Given the description of an element on the screen output the (x, y) to click on. 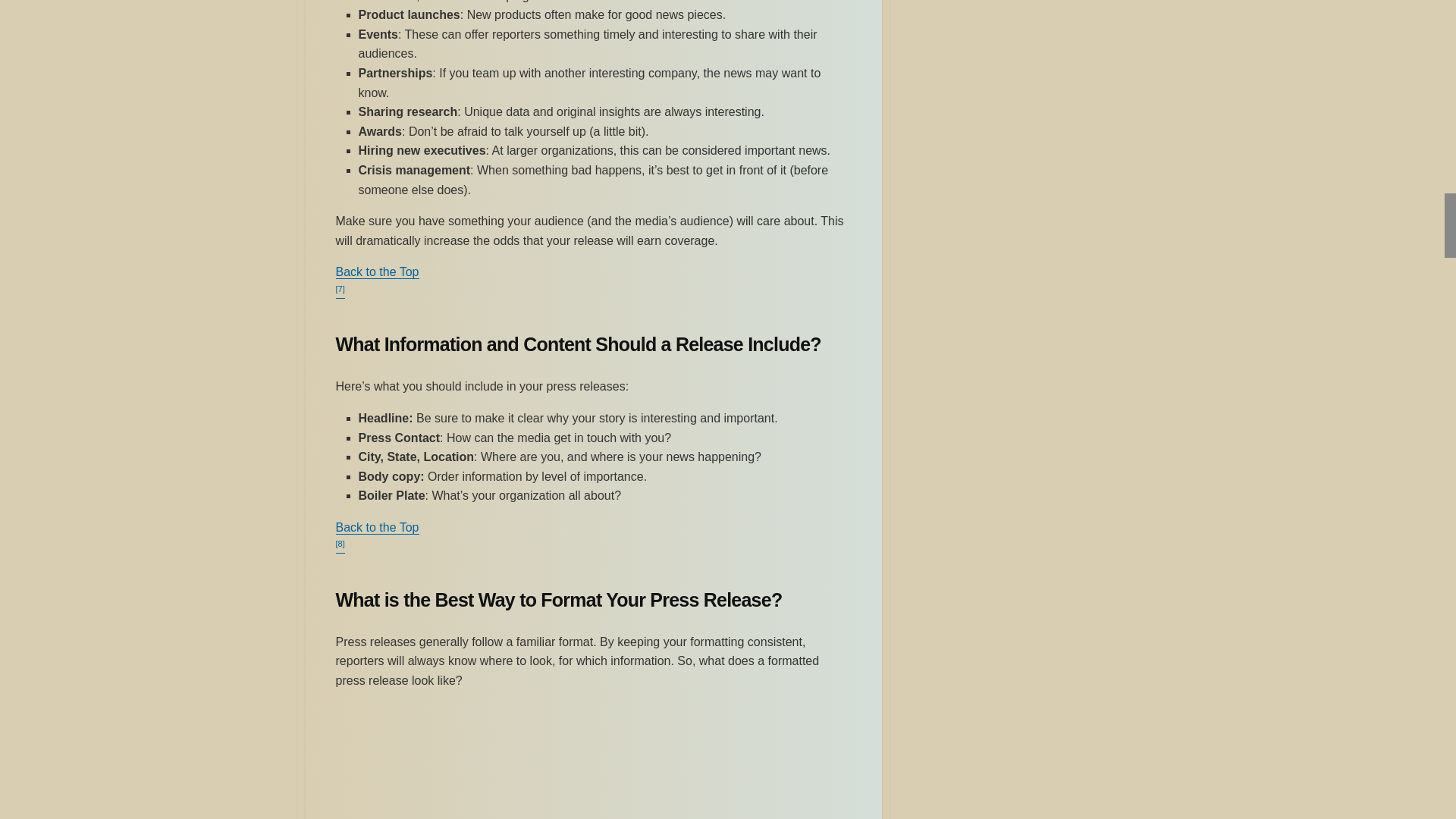
Back to the Top (376, 526)
Back to the Top (376, 271)
